Given the description of an element on the screen output the (x, y) to click on. 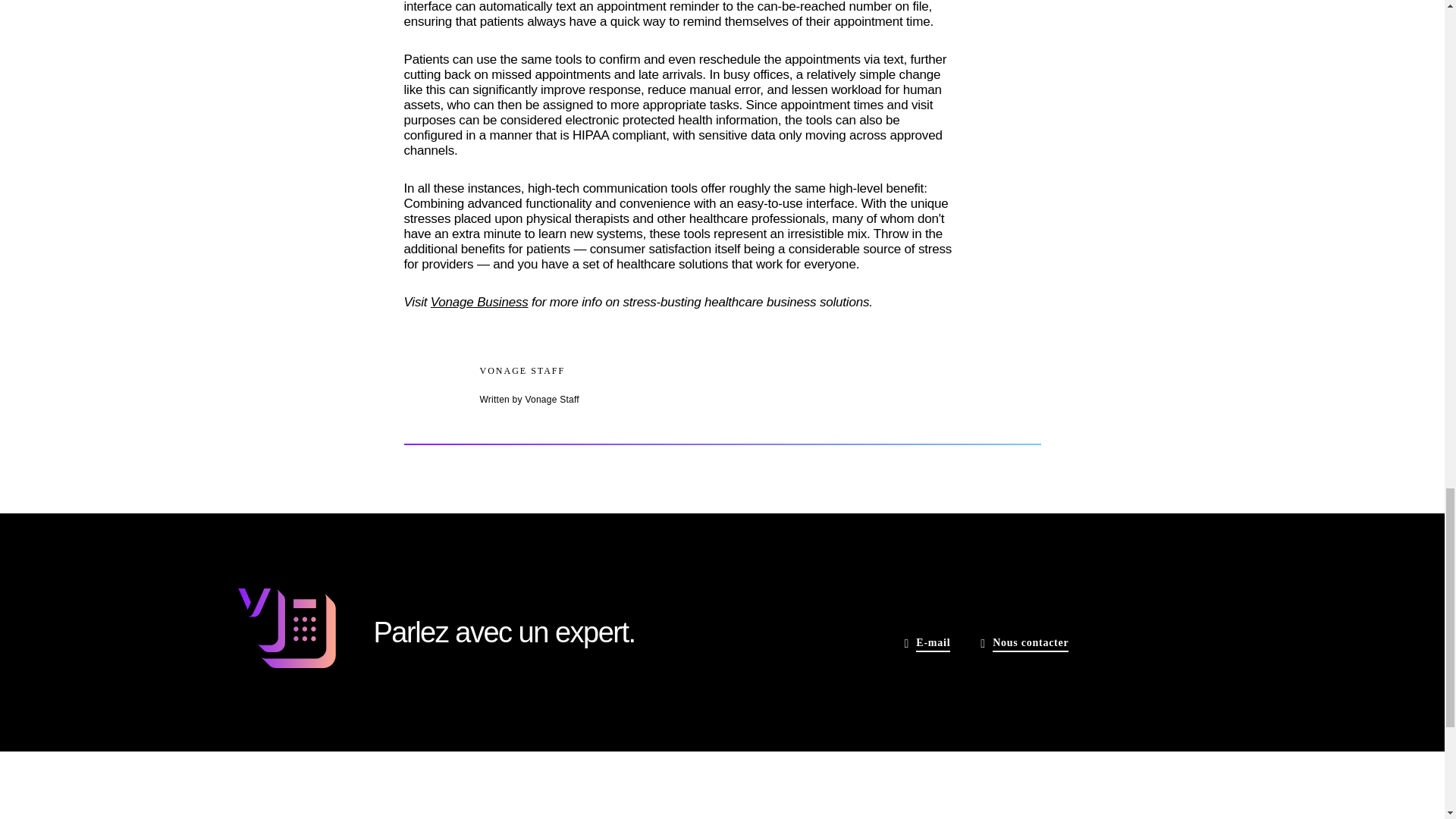
Vonage Phone (284, 630)
